Given the description of an element on the screen output the (x, y) to click on. 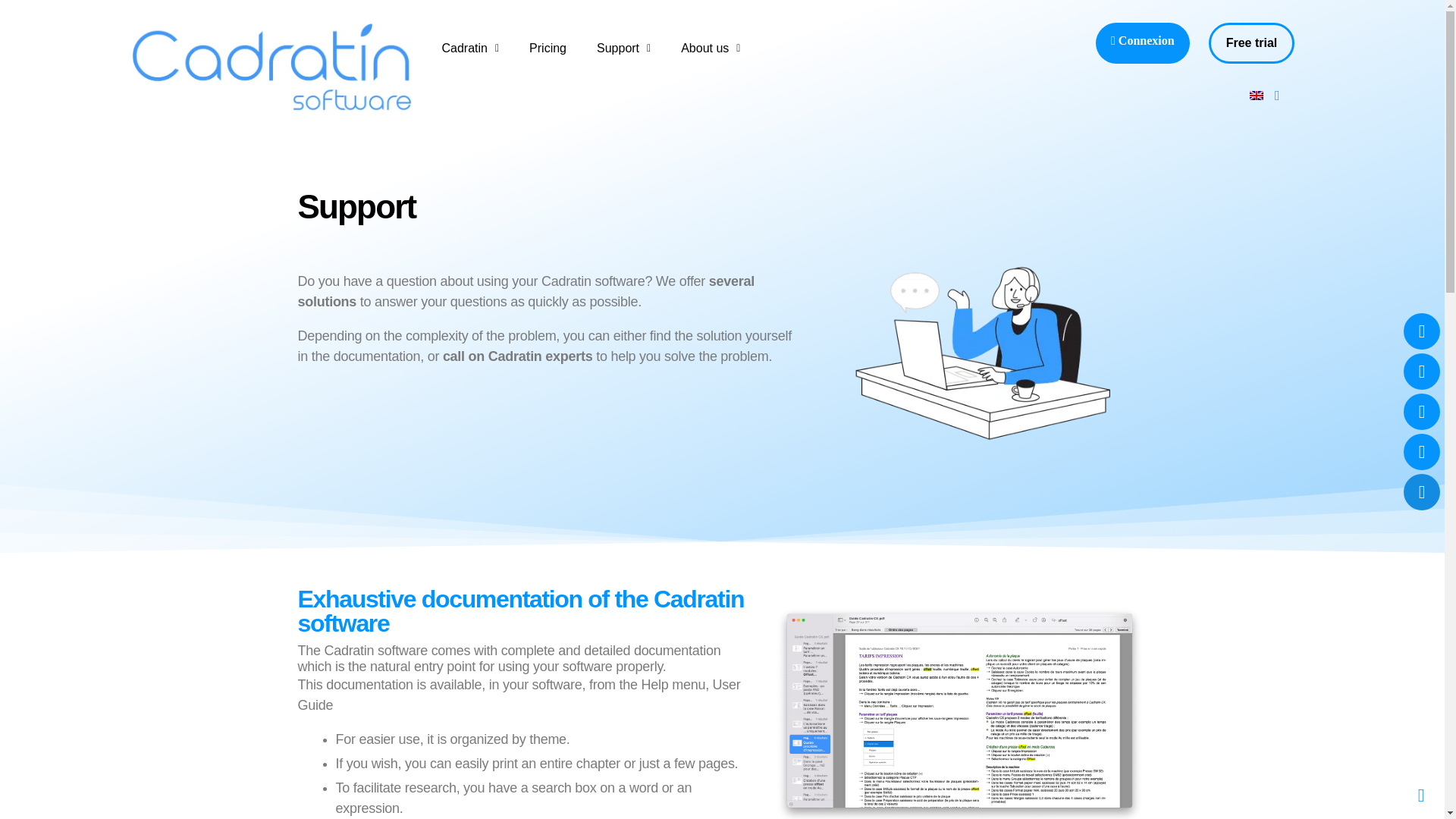
Connexion (1142, 40)
Cadratin (469, 48)
Free trial (1251, 43)
About us (710, 48)
Support (622, 48)
page 8 (527, 730)
Pricing (546, 48)
